Given the description of an element on the screen output the (x, y) to click on. 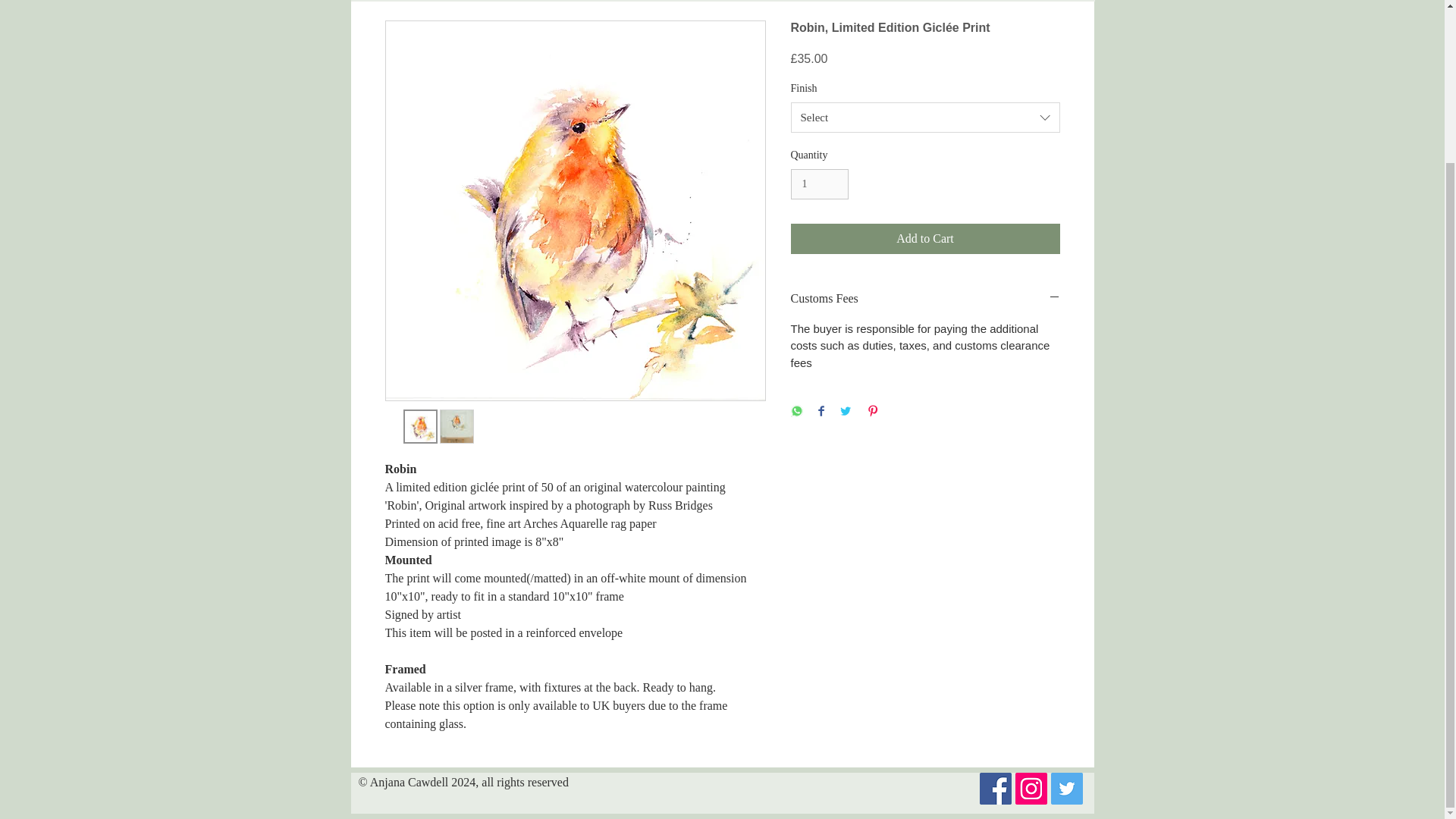
Customs Fees (924, 298)
Add to Cart (924, 238)
1 (818, 183)
Select (924, 117)
